Given the description of an element on the screen output the (x, y) to click on. 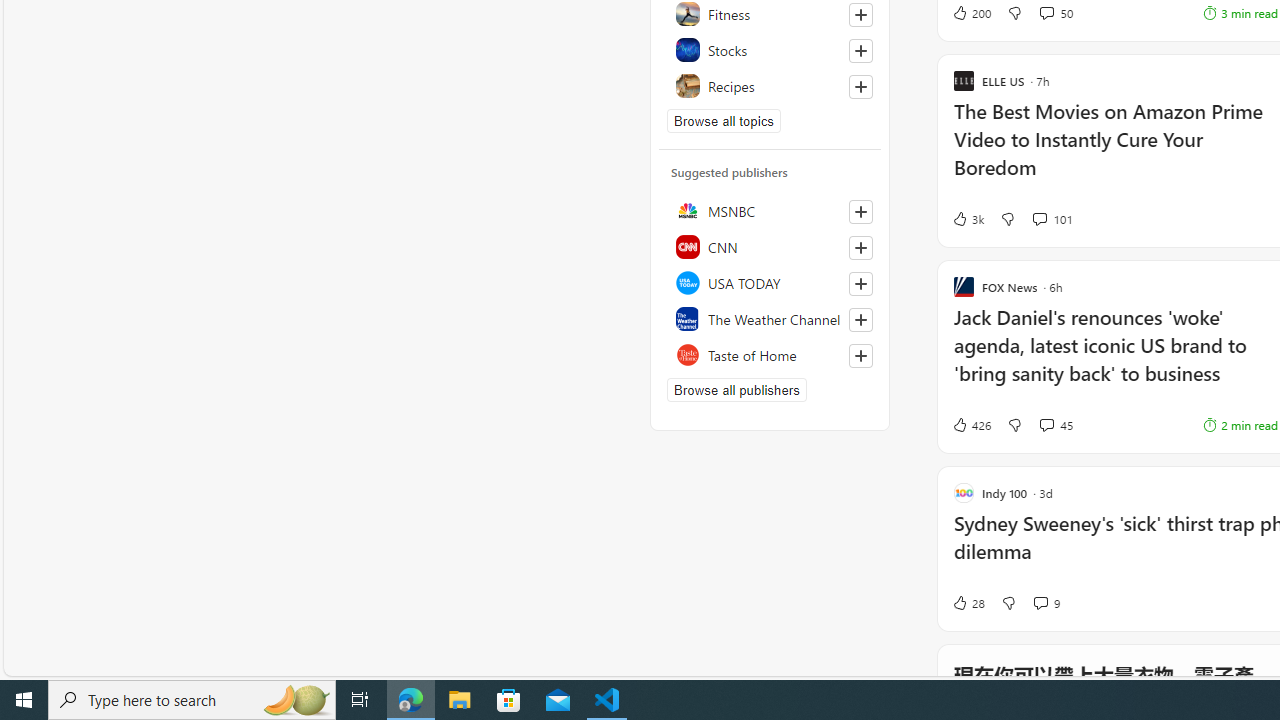
View comments 50 Comment (1046, 12)
View comments 45 Comment (1055, 425)
28 Like (968, 602)
MSNBC (770, 210)
View comments 45 Comment (1046, 424)
Follow this source (860, 355)
The Weather Channel (770, 318)
200 Like (970, 12)
USA TODAY (770, 282)
Recipes (770, 85)
Follow this topic (860, 86)
CNN (770, 246)
